Given the description of an element on the screen output the (x, y) to click on. 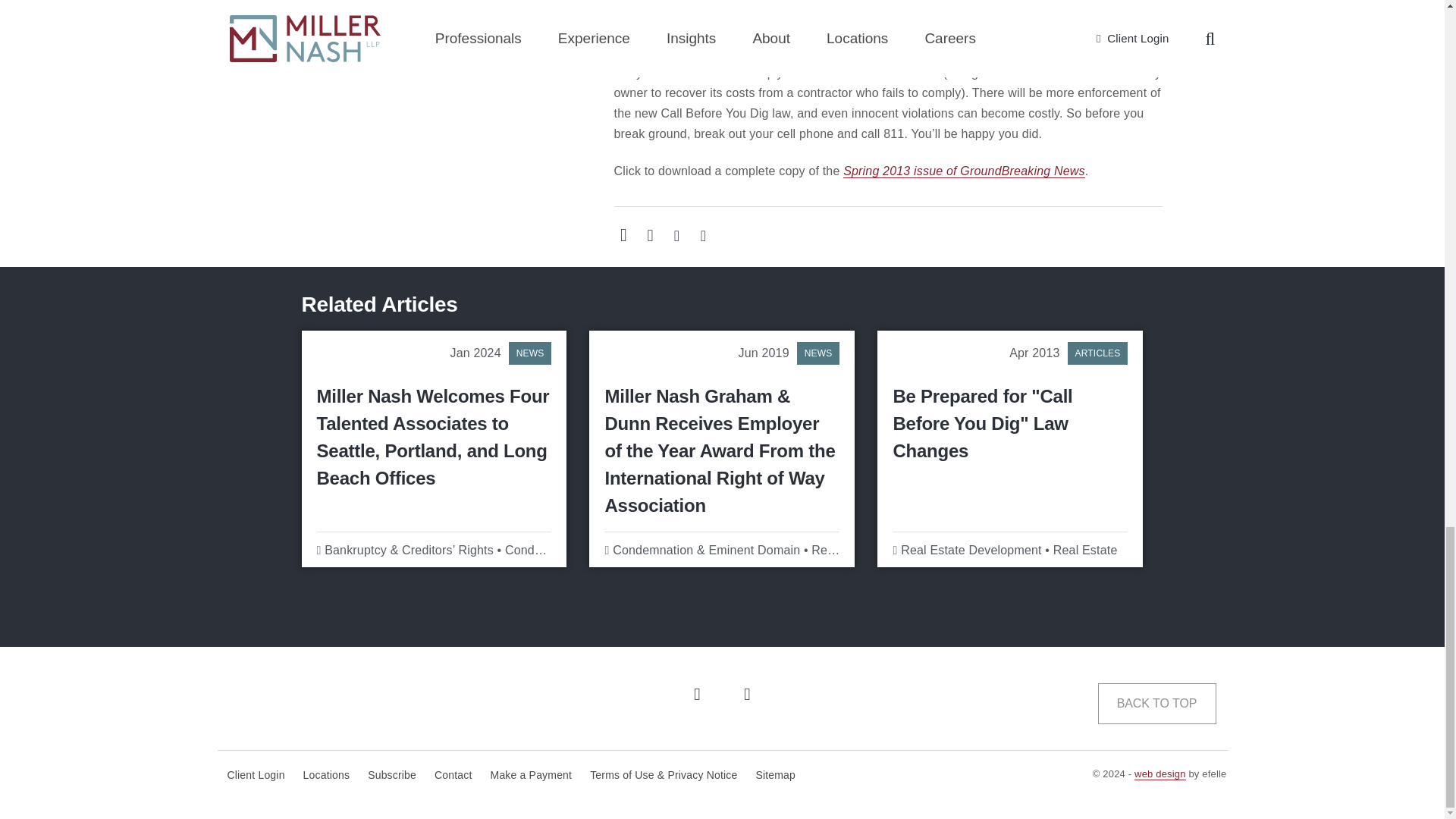
Articles (1097, 353)
Share via Twitter (702, 234)
News (529, 353)
Share via LinkedIn (675, 234)
More Sharing Options (649, 234)
News (818, 353)
law firm web design (1160, 774)
Share via Email (623, 234)
